Given the description of an element on the screen output the (x, y) to click on. 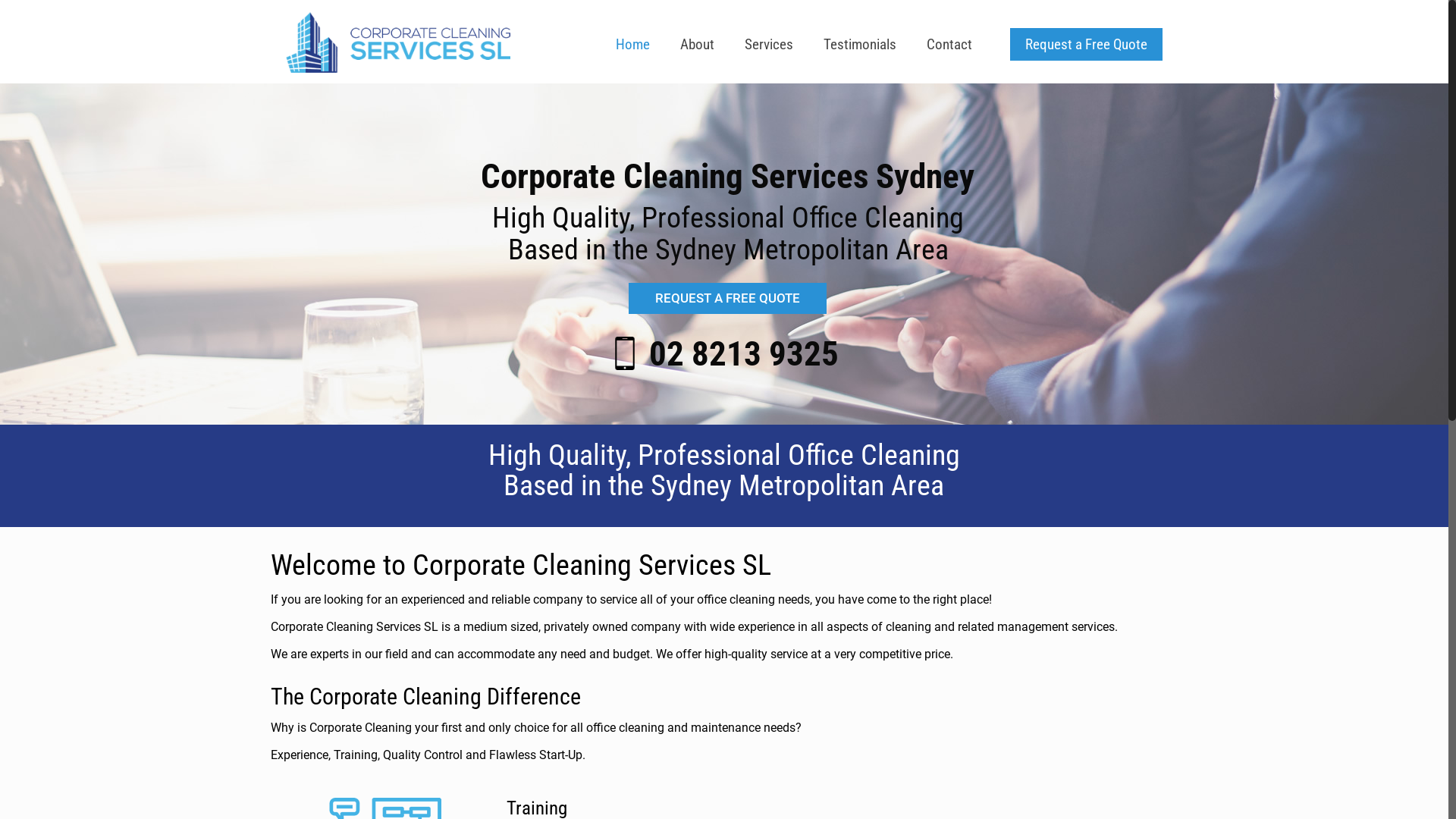
Services Element type: text (768, 44)
02 8213 9325 Element type: text (743, 353)
Home Element type: text (632, 44)
Contact Element type: text (949, 44)
Testimonials Element type: text (859, 44)
About Element type: text (697, 44)
Corporate Cleaning Services Element type: hover (397, 41)
Request a Free Quote Element type: text (1086, 44)
